Given the description of an element on the screen output the (x, y) to click on. 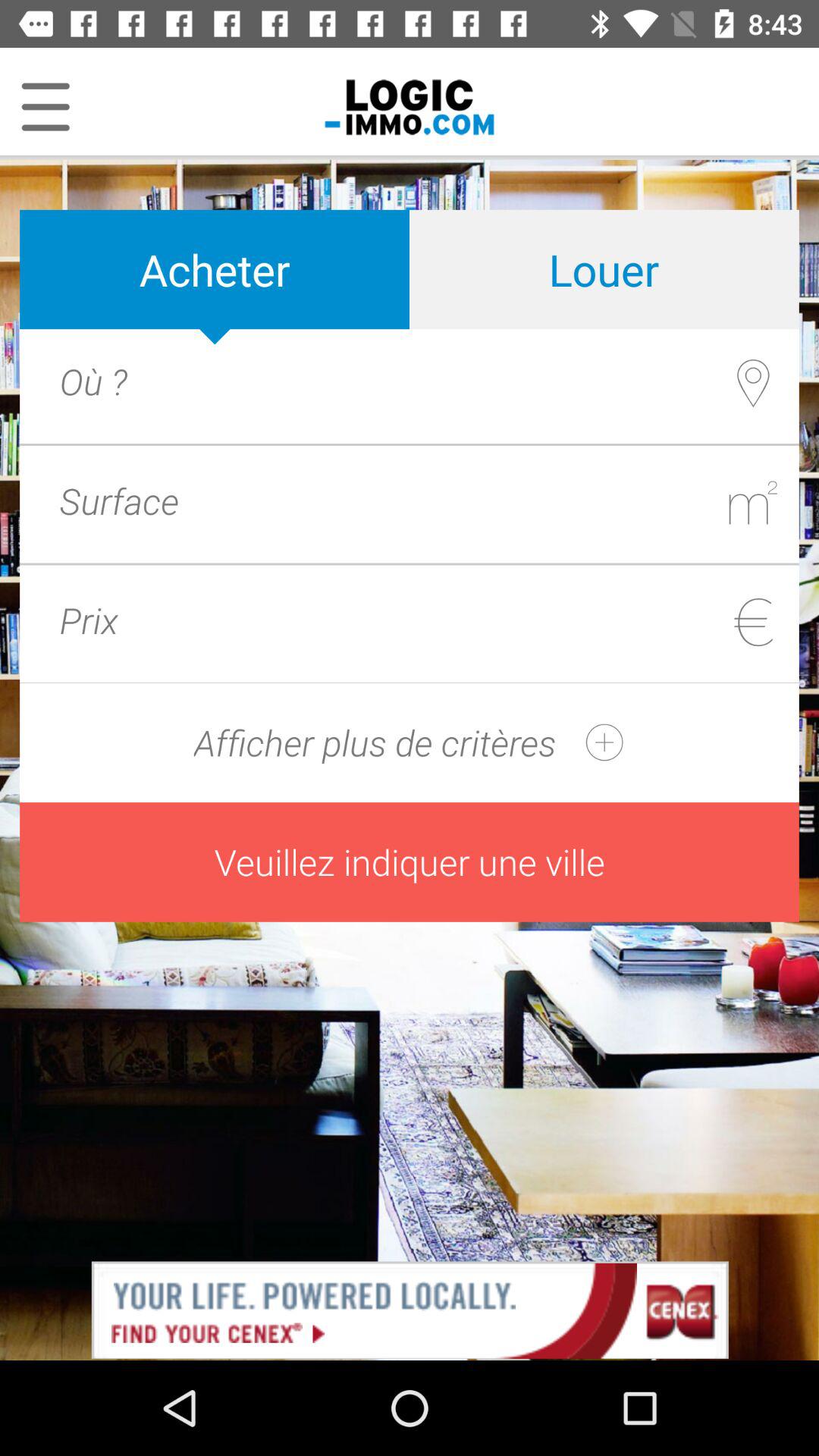
enter price (436, 620)
